Given the description of an element on the screen output the (x, y) to click on. 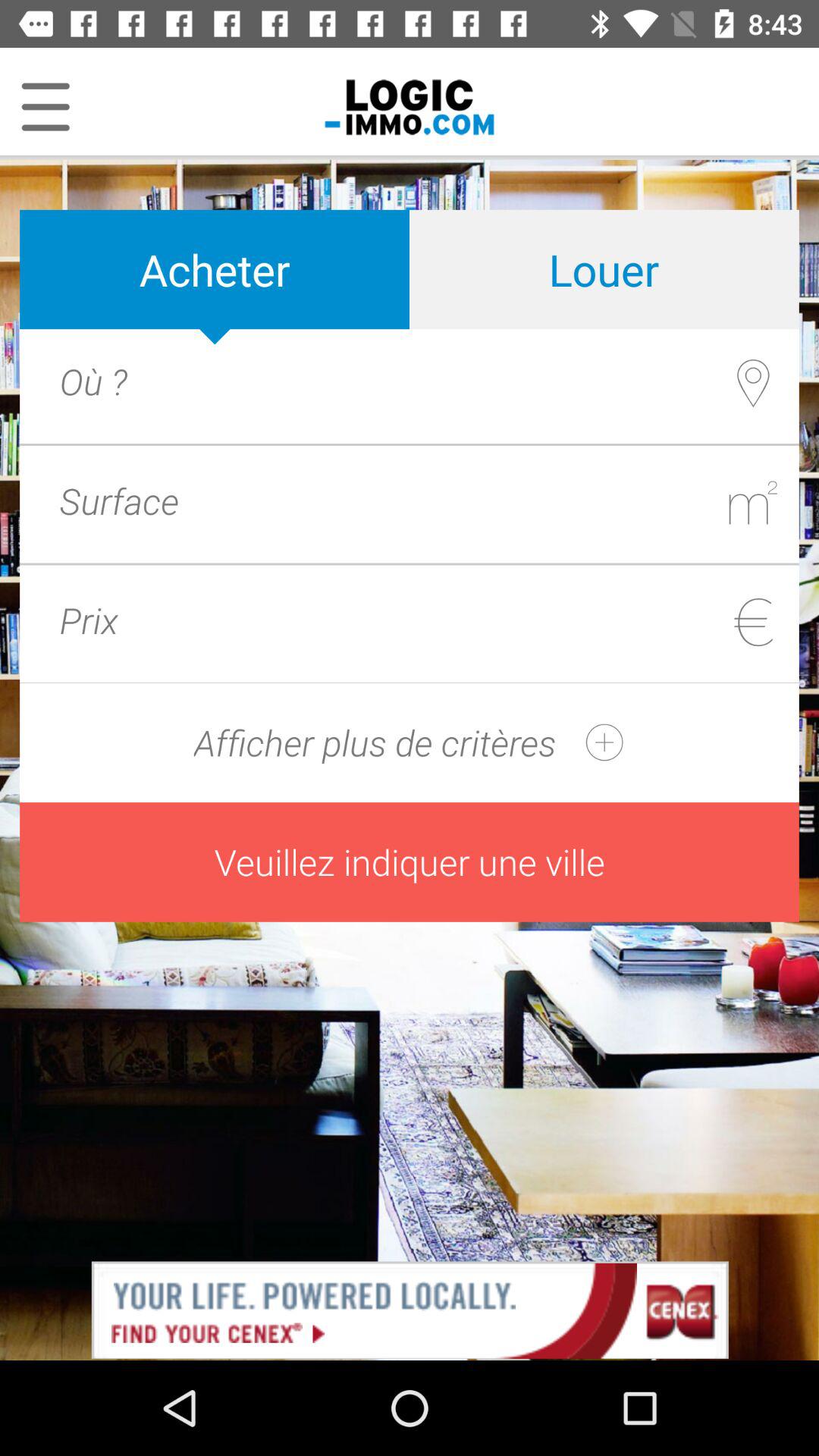
enter price (436, 620)
